Given the description of an element on the screen output the (x, y) to click on. 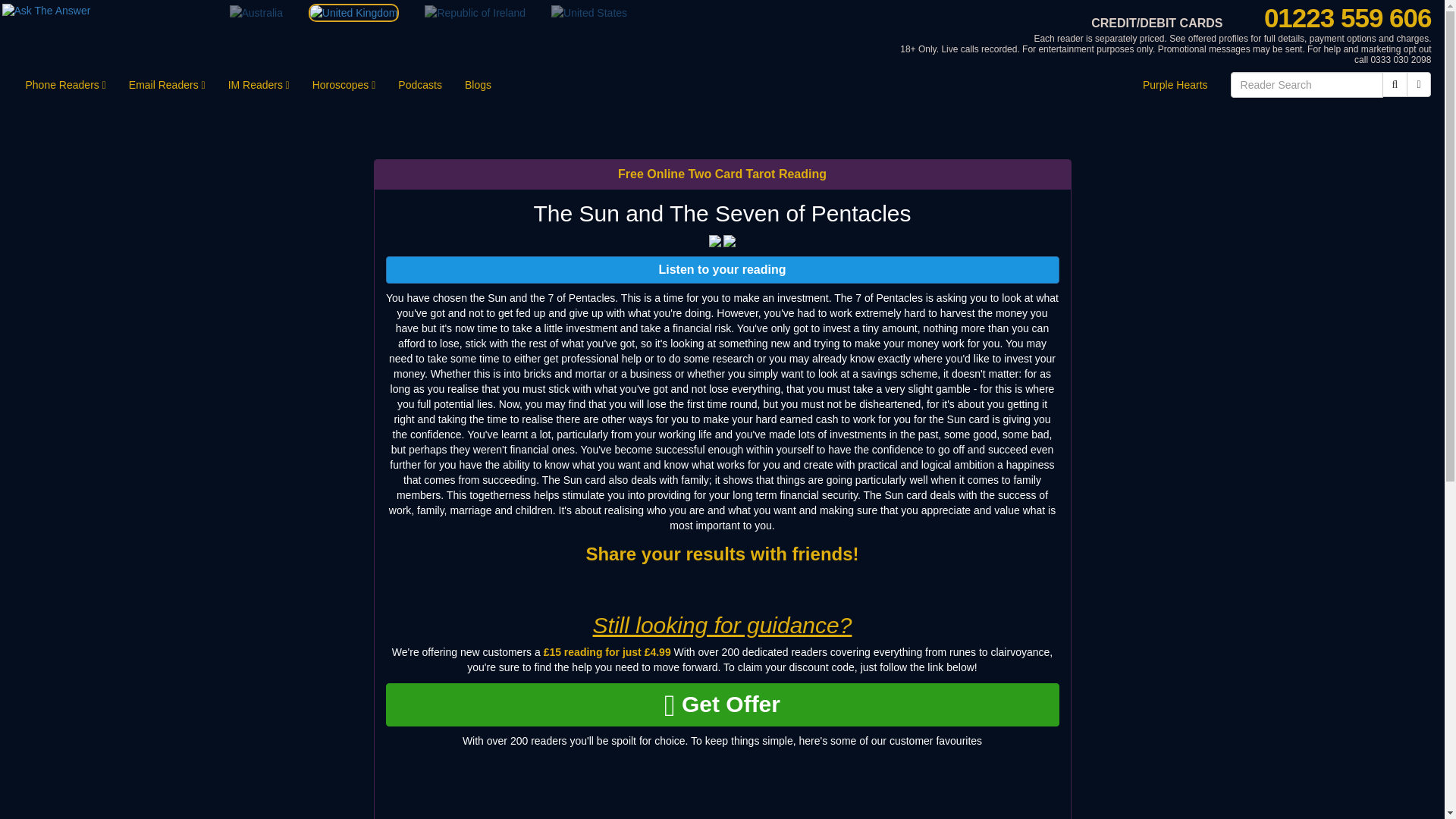
United Kingdom (353, 13)
0333 030 2098 (1400, 59)
Phone Readers (64, 84)
United States (589, 12)
IM Readers (258, 84)
Republic of Ireland (475, 12)
Email Readers (166, 84)
01223 559 606 (1347, 17)
Ask The Answer (349, 11)
Australia (255, 12)
